Given the description of an element on the screen output the (x, y) to click on. 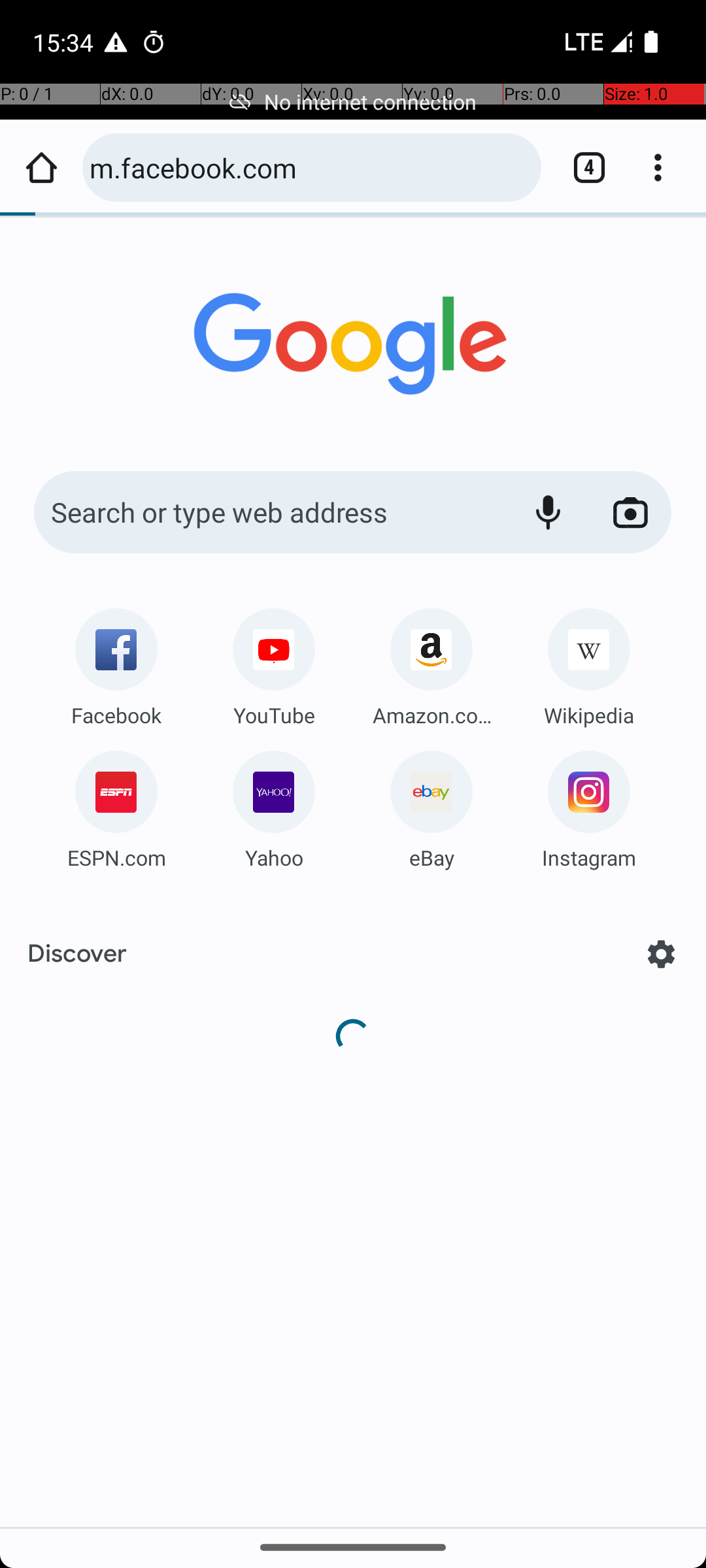
m.facebook.com Element type: android.widget.EditText (308, 167)
Search or type web address Element type: android.widget.EditText (267, 512)
Start voice search Element type: android.widget.ImageView (547, 512)
Search with your camera using Google Lens Element type: android.widget.ImageView (629, 512)
Navigate: Facebook: m.facebook.com Element type: android.widget.FrameLayout (115, 662)
Navigate: YouTube: m.youtube.com Element type: android.widget.FrameLayout (273, 662)
Navigate: Amazon.com: www.amazon.com Element type: android.widget.FrameLayout (431, 662)
Navigate: Wikipedia: en.m.wikipedia.org Element type: android.widget.FrameLayout (588, 662)
Navigate: ESPN.com: www.espn.com Element type: android.widget.FrameLayout (115, 804)
Navigate: Yahoo: www.yahoo.com Element type: android.widget.FrameLayout (273, 804)
Navigate: eBay: m.ebay.com Element type: android.widget.FrameLayout (431, 804)
Navigate: Instagram: www.instagram.com Element type: android.widget.FrameLayout (588, 804)
Discover Element type: android.widget.TextView (76, 953)
Options for Discover Element type: android.widget.ImageButton (660, 953)
Facebook Element type: android.widget.TextView (115, 715)
Amazon.com Element type: android.widget.TextView (430, 715)
Wikipedia Element type: android.widget.TextView (588, 715)
ESPN.com Element type: android.widget.TextView (115, 857)
Yahoo Element type: android.widget.TextView (273, 857)
eBay Element type: android.widget.TextView (430, 857)
Instagram Element type: android.widget.TextView (588, 857)
